Given the description of an element on the screen output the (x, y) to click on. 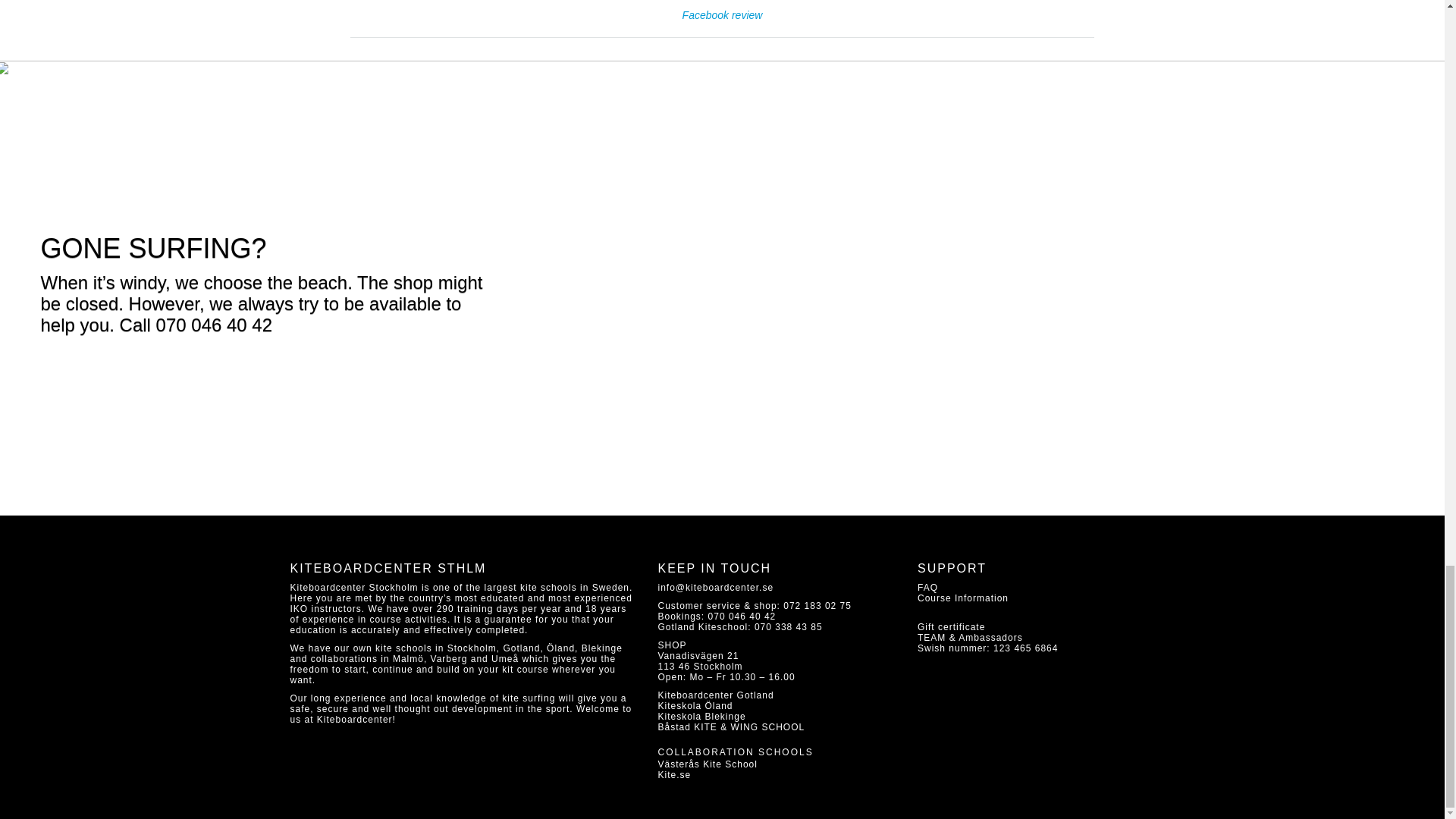
070 046 40 42 (741, 615)
072 183 02 75 (817, 605)
Kiteboardcenter Gotland (716, 695)
070 338 43 85 (788, 626)
Facebook review (722, 15)
